Given the description of an element on the screen output the (x, y) to click on. 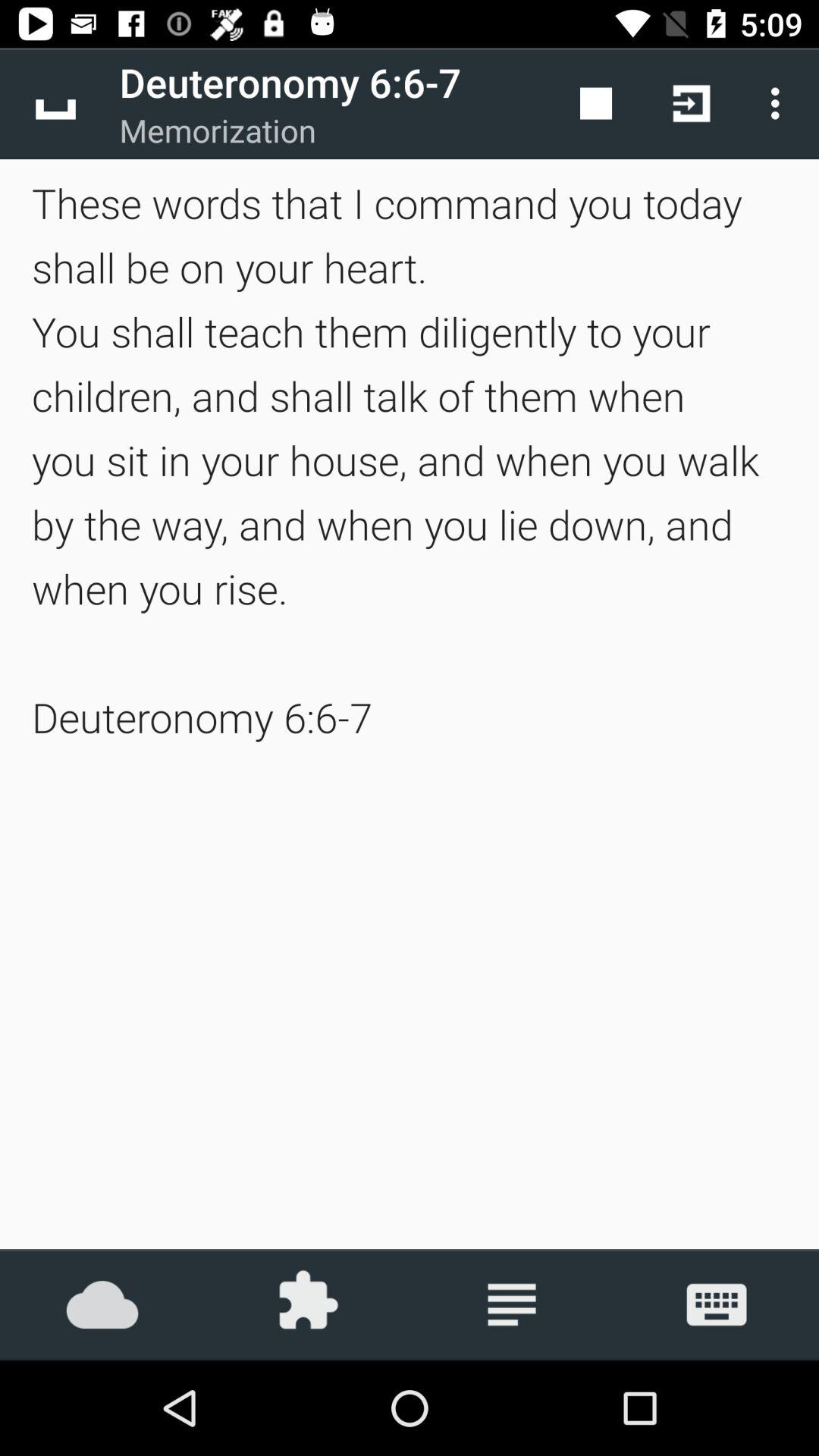
open the icon below these words that icon (716, 1304)
